Given the description of an element on the screen output the (x, y) to click on. 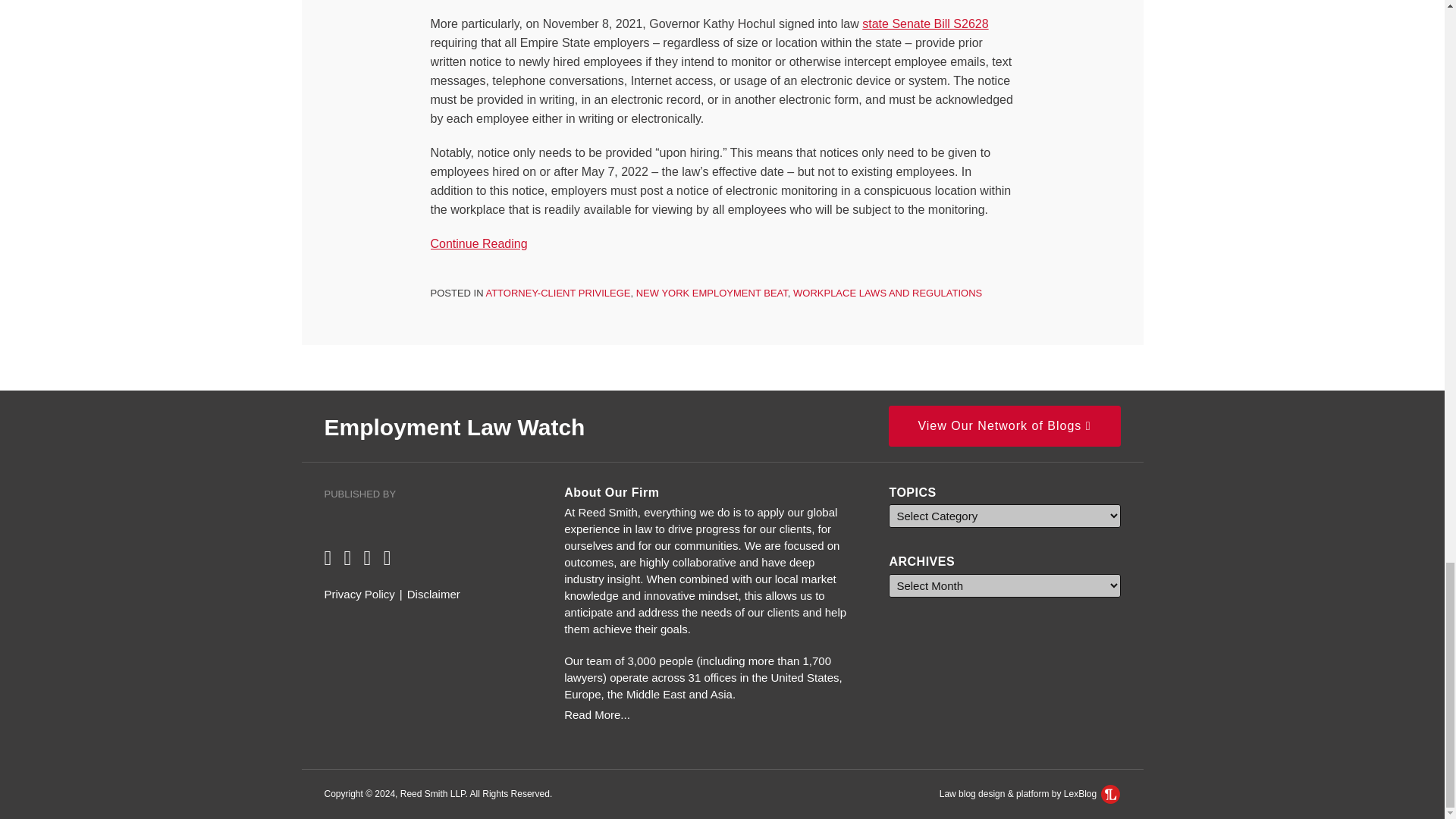
LexBlog Logo (1109, 793)
